Given the description of an element on the screen output the (x, y) to click on. 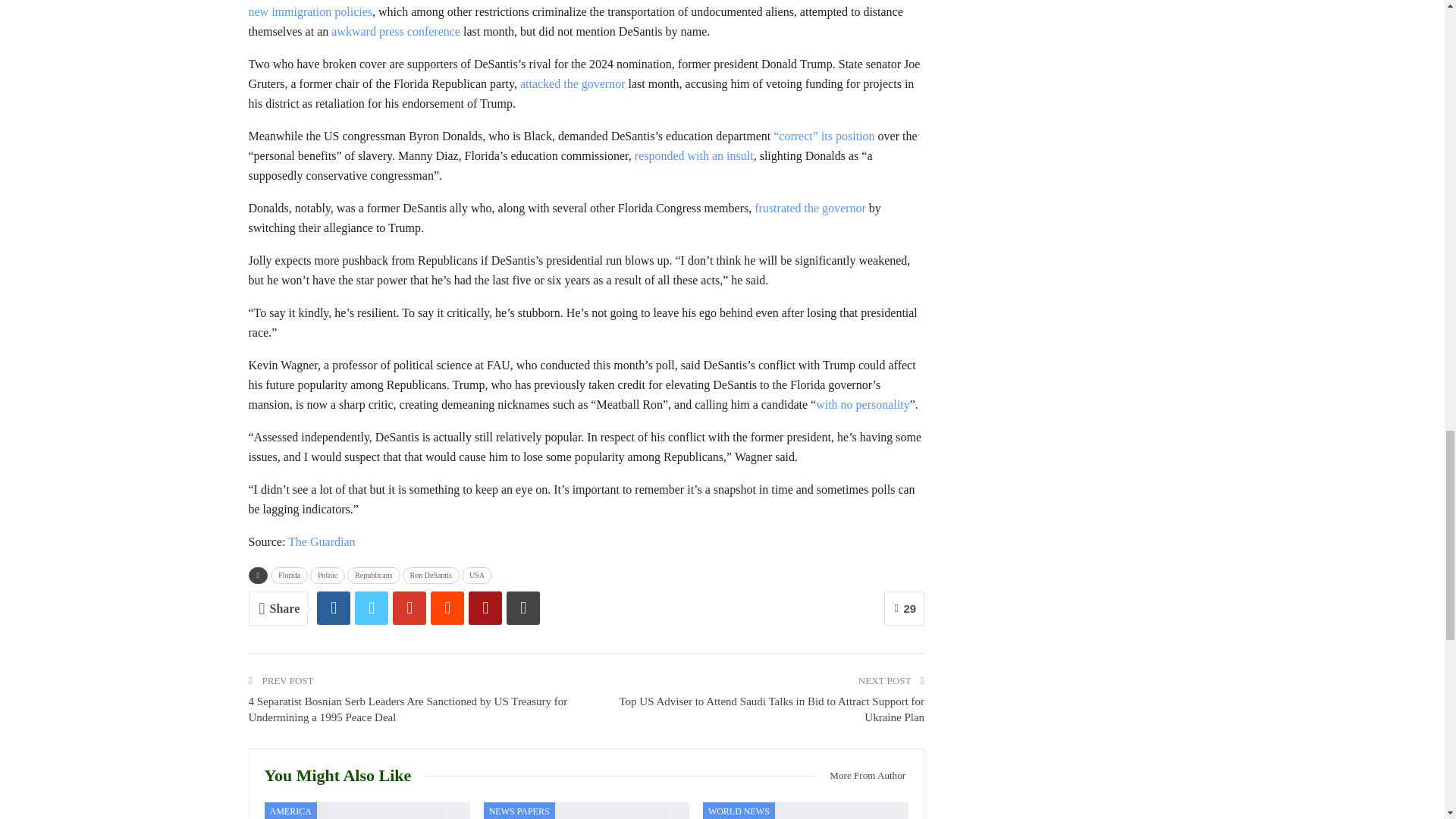
FBI: The shooting was an assassination attempt against Trump (365, 810)
